Given the description of an element on the screen output the (x, y) to click on. 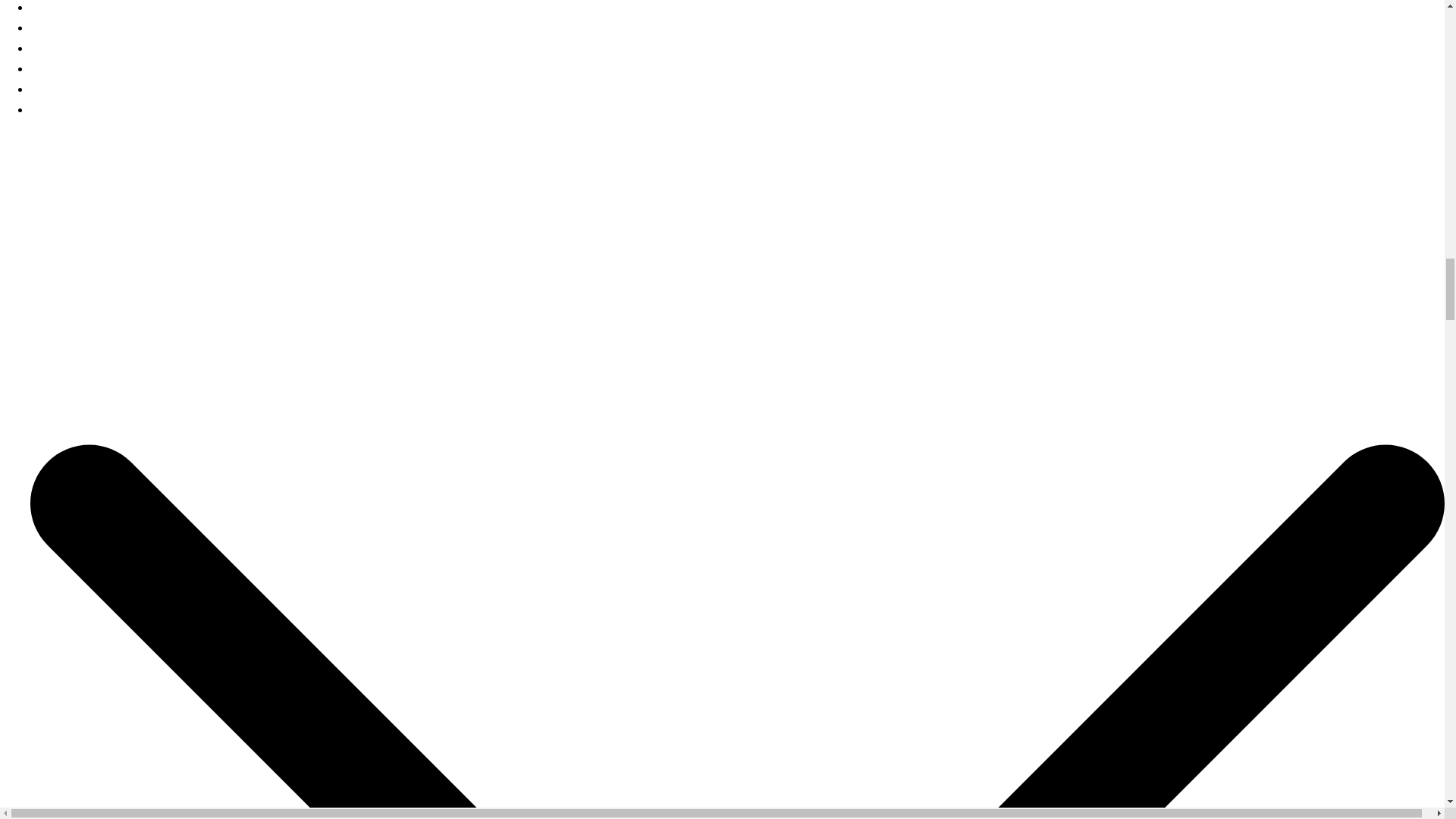
Name Change (68, 27)
Seat Upgrade (67, 48)
More (44, 109)
Manage Booking (75, 89)
Pet Travel (57, 68)
Flight Change (68, 10)
